Given the description of an element on the screen output the (x, y) to click on. 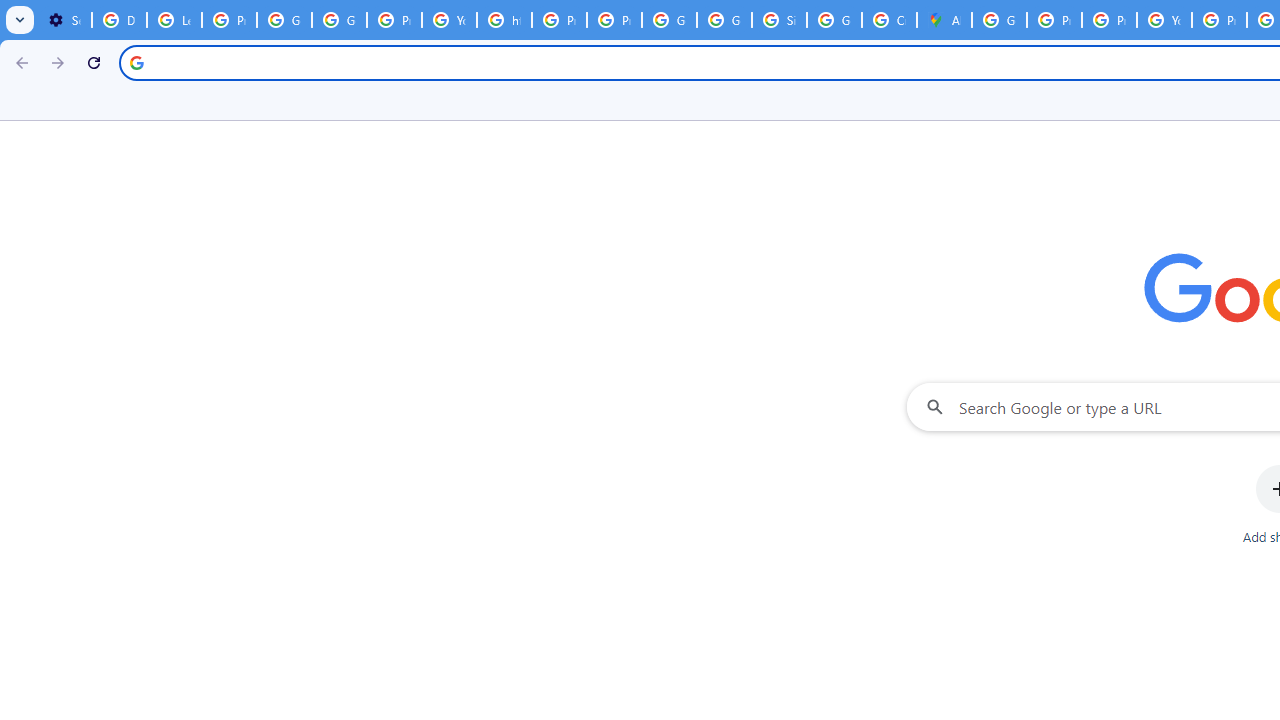
Privacy Help Center - Policies Help (1108, 20)
Privacy Help Center - Policies Help (559, 20)
Create your Google Account (888, 20)
Delete photos & videos - Computer - Google Photos Help (119, 20)
Settings - On startup (64, 20)
Google Account Help (284, 20)
